Given the description of an element on the screen output the (x, y) to click on. 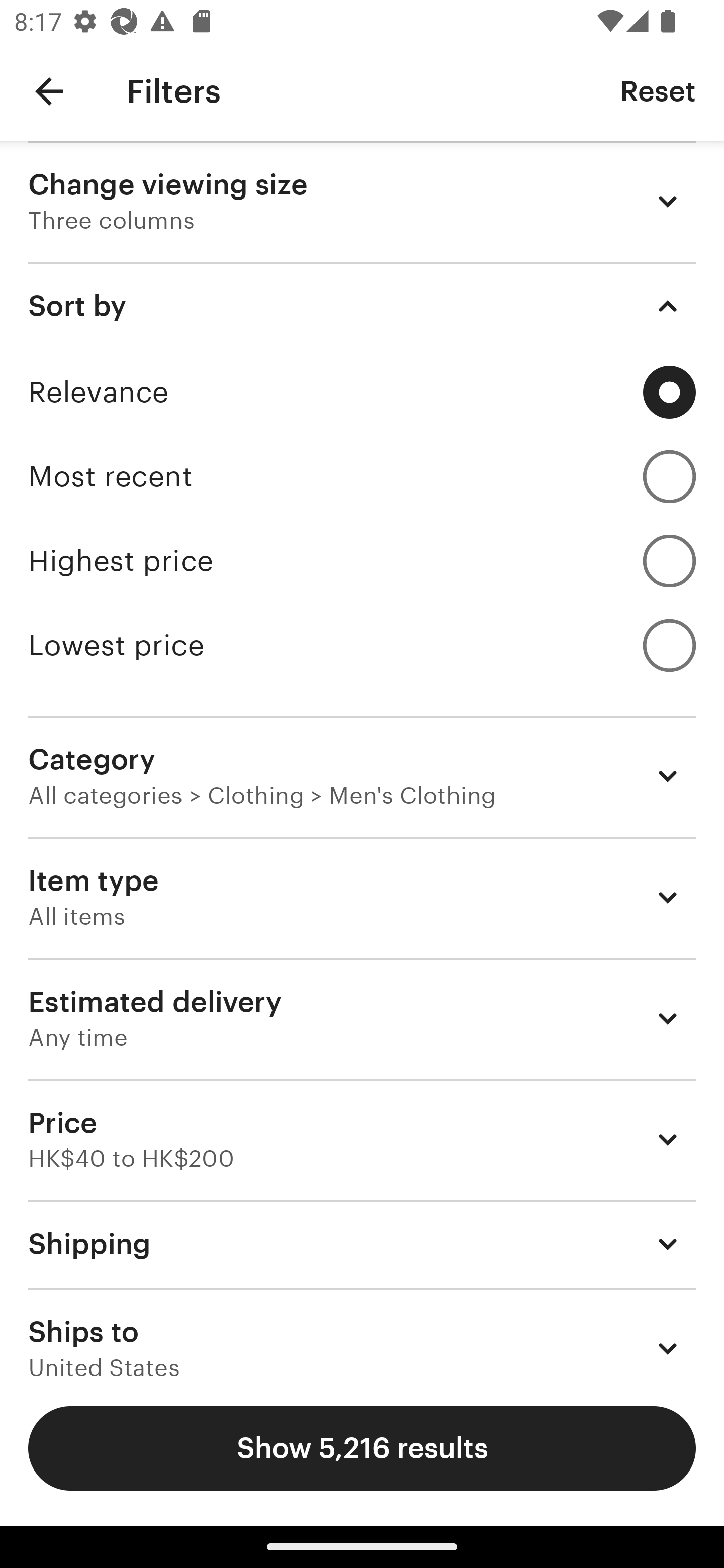
Navigate up (49, 91)
Reset (657, 90)
Change viewing size Three columns (362, 201)
Sort by (362, 305)
Relevance (362, 391)
Most recent (362, 476)
Highest price (362, 561)
Lowest price (362, 644)
Item type All items (362, 897)
Estimated delivery Any time (362, 1018)
Price HK$40 to HK$200 (362, 1138)
Shipping (362, 1243)
Ships to United States (362, 1332)
Show 5,216 results Show results (361, 1448)
